Given the description of an element on the screen output the (x, y) to click on. 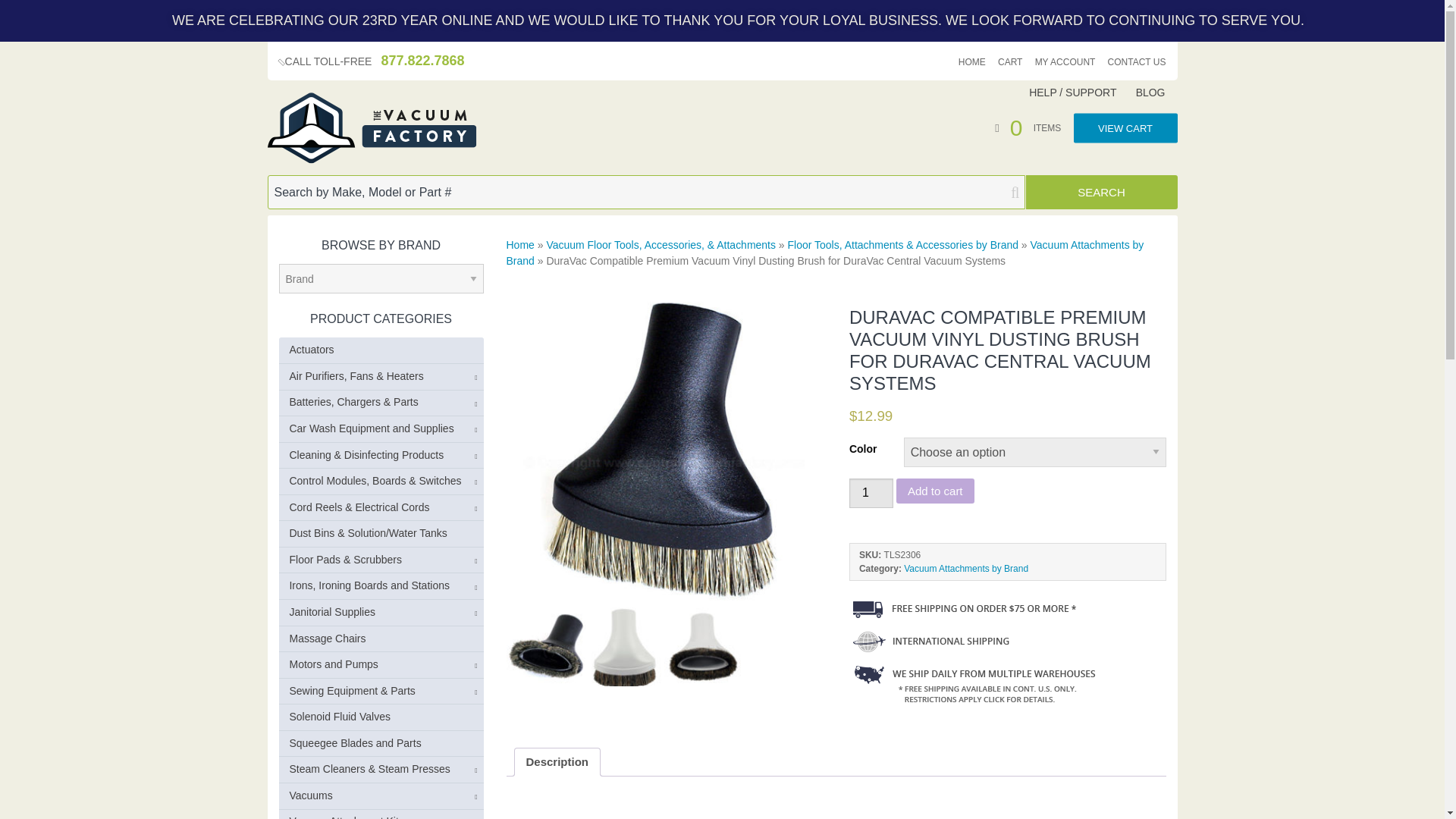
Search (1100, 192)
MY ACCOUNT (1065, 62)
CONTACT US (1137, 62)
AT108-9.jpg (702, 646)
HOME (971, 62)
View Cart (1033, 125)
1 (870, 492)
View Cart (1125, 127)
CART (1009, 62)
AT108-8.jpg (624, 646)
AT108-7.jpg (545, 646)
Visit Home Page (371, 127)
AT108-6.jpg (665, 448)
Search (1100, 192)
